Given the description of an element on the screen output the (x, y) to click on. 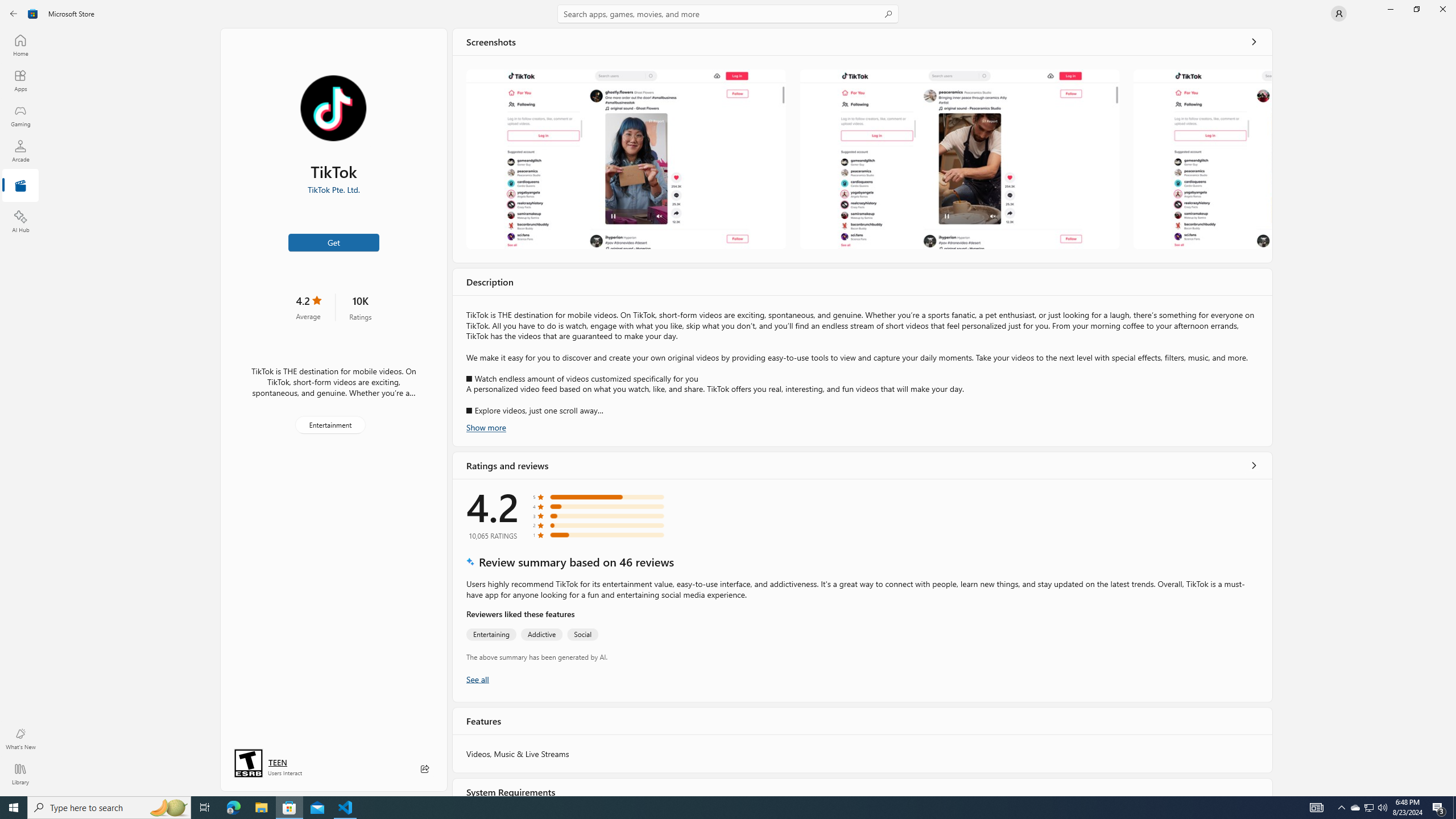
AI Hub (20, 221)
TikTok Pte. Ltd. (333, 189)
Minimize Microsoft Store (1390, 9)
Library (20, 773)
Gaming (20, 115)
Entertainment (329, 425)
Apps (20, 80)
Close Microsoft Store (1442, 9)
Screenshot 2 (959, 158)
Show all ratings and reviews (477, 678)
Arcade (20, 150)
Screenshot 1 (625, 158)
User profile (1338, 13)
Share (424, 769)
